Given the description of an element on the screen output the (x, y) to click on. 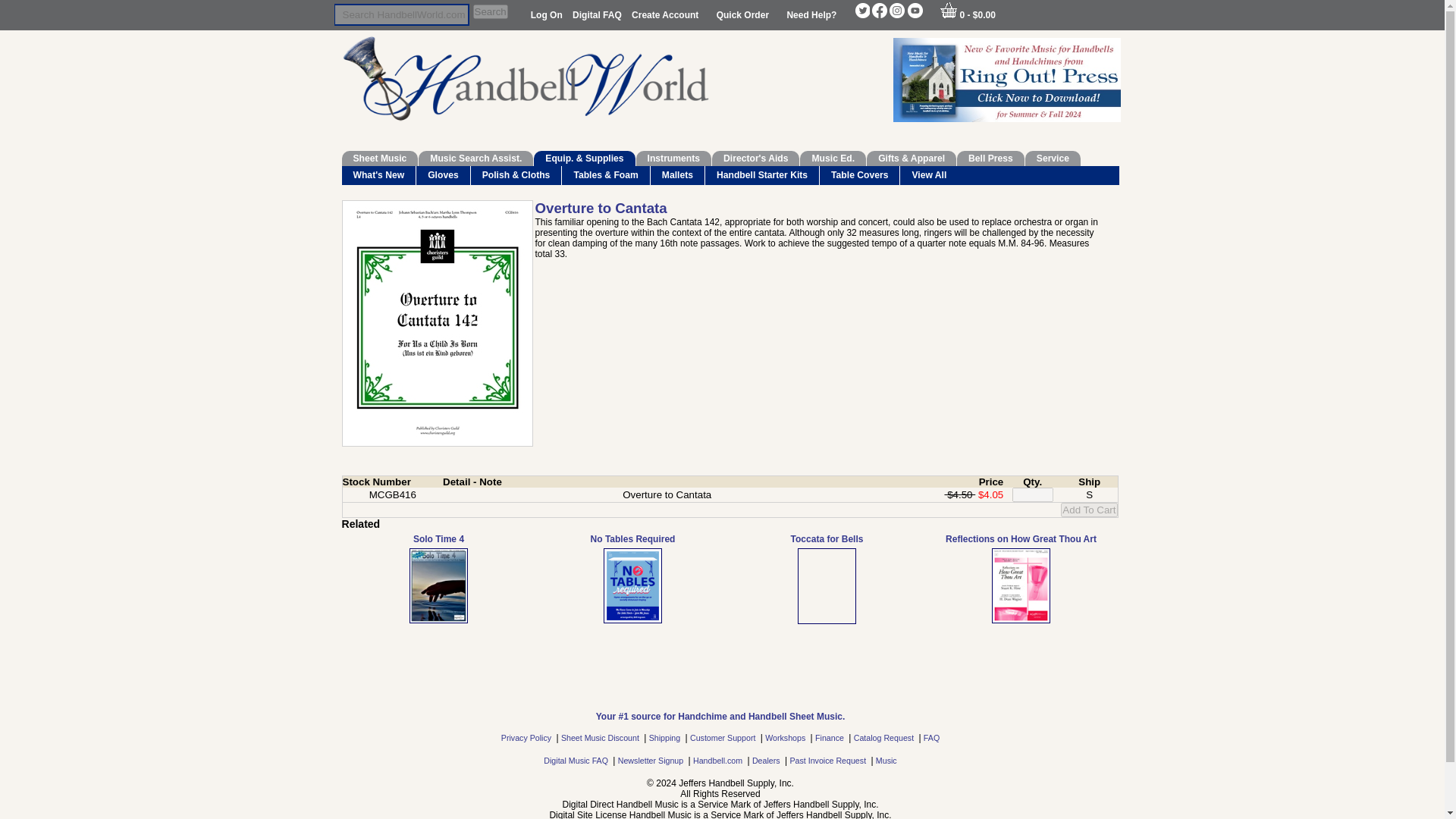
Follow us on Instagram (896, 10)
What's New (378, 175)
Search (490, 11)
Follow us on Twitter (861, 10)
Follow us on Youtube (915, 10)
Sheet Music (378, 158)
Music Search Assist. (475, 158)
View Cart (948, 10)
Gloves (443, 175)
Mallets (677, 175)
Digital FAQ (598, 14)
Need Help? (812, 14)
Quick Order (743, 14)
Log On (547, 14)
Search HandbellWorld.com Form (400, 14)
